Given the description of an element on the screen output the (x, y) to click on. 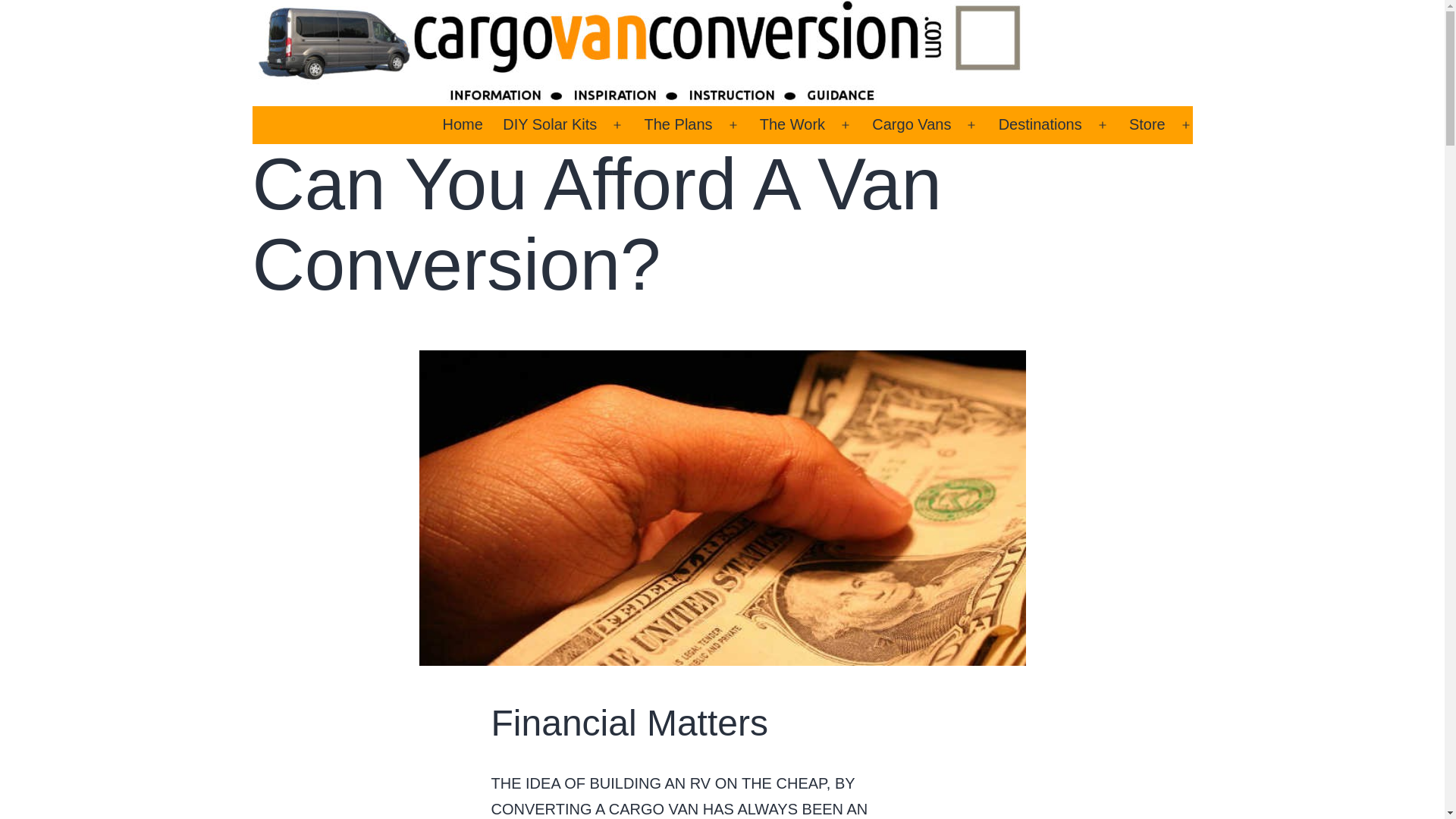
DIY Solar Kits (550, 125)
The Plans (677, 125)
Home (462, 125)
The Work (792, 125)
